Given the description of an element on the screen output the (x, y) to click on. 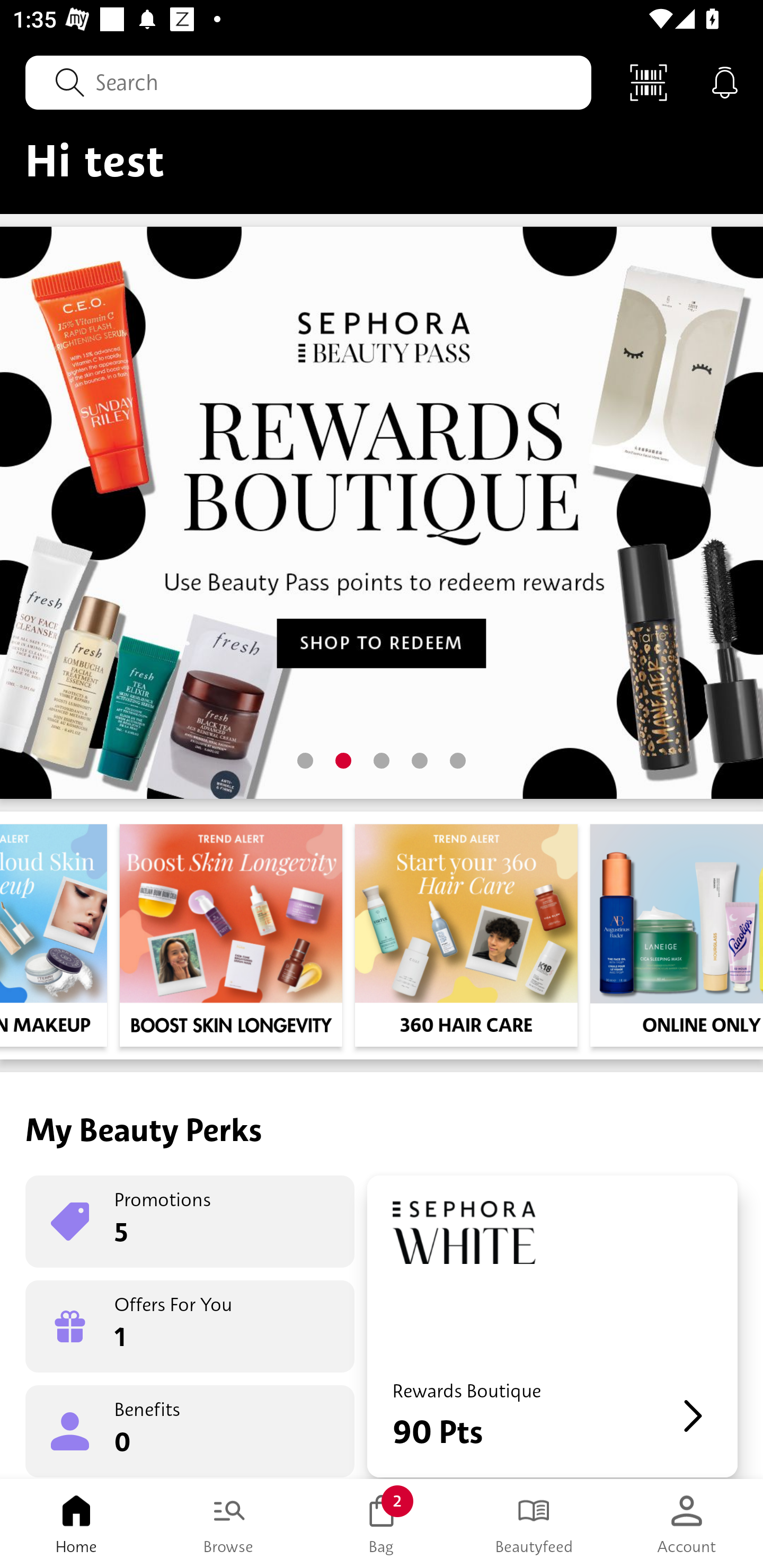
Scan Code (648, 81)
Notifications (724, 81)
Search (308, 81)
Promotions 5 (189, 1221)
Rewards Boutique 90 Pts (552, 1326)
Offers For You 1 (189, 1326)
Benefits 0 (189, 1430)
Browse (228, 1523)
Bag 2 Bag (381, 1523)
Beautyfeed (533, 1523)
Account (686, 1523)
